Given the description of an element on the screen output the (x, y) to click on. 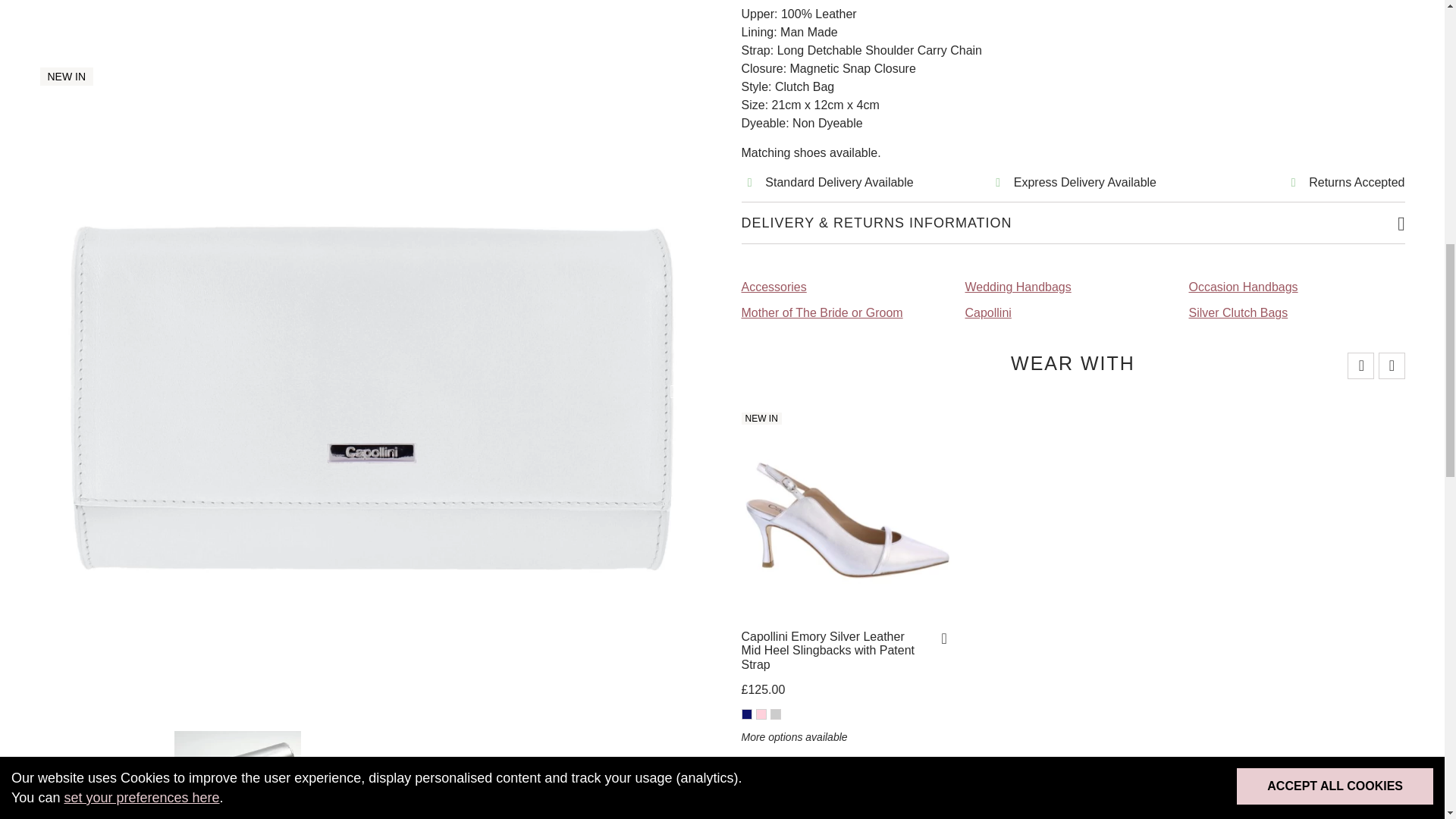
View this product in: Pink (760, 714)
Photograph: Capollini Silver Leather Clutch Bag (102, 153)
Photograph: Capollini Silver Leather Clutch Bag (371, 41)
Photograph 2 (237, 153)
View this product (837, 650)
View this product in: Navy (746, 714)
